Given the description of an element on the screen output the (x, y) to click on. 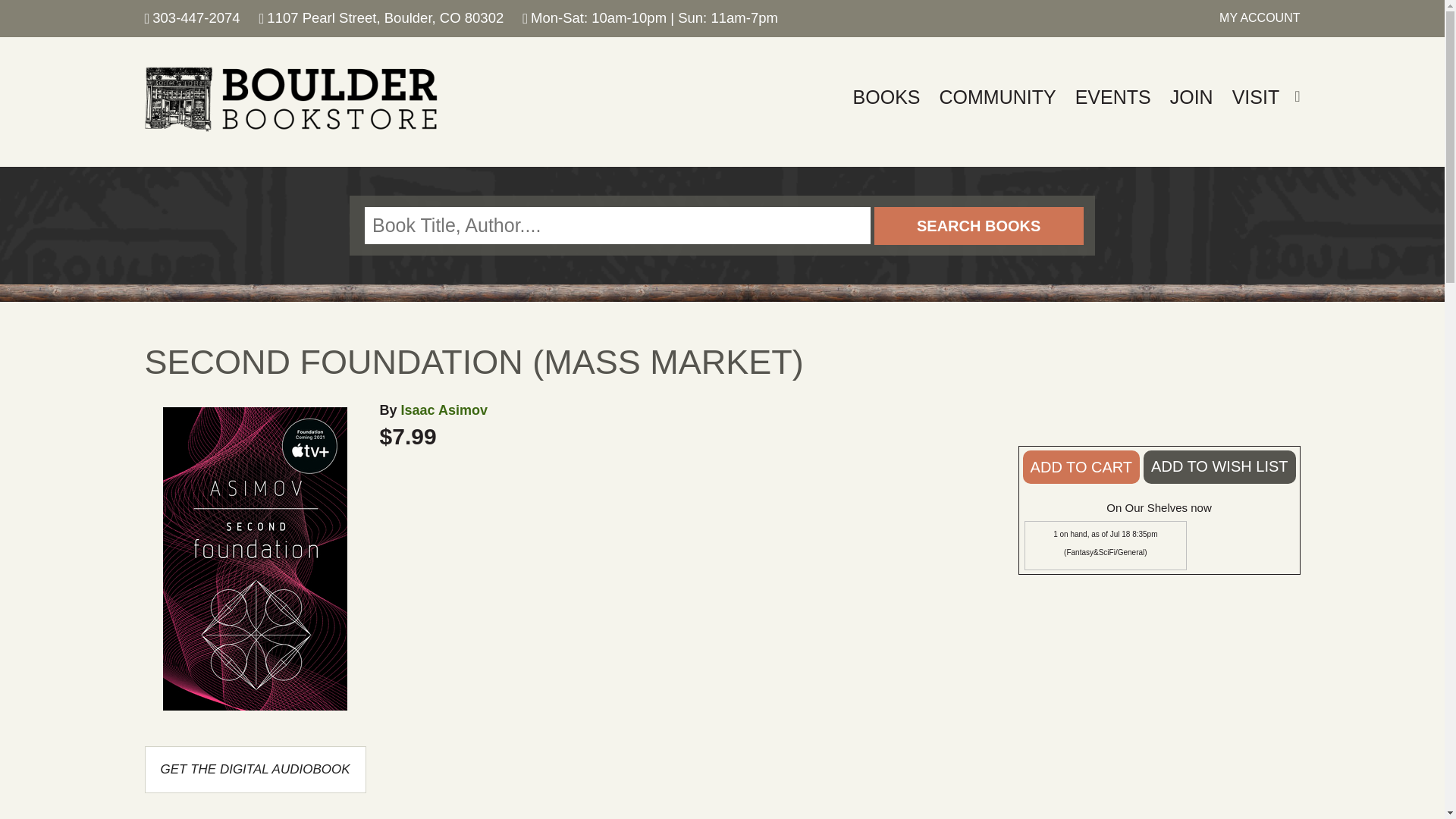
Add to Cart (1081, 467)
MY ACCOUNT (1260, 17)
Add to Cart (1081, 467)
EVENTS (1113, 96)
Isaac Asimov (444, 409)
ADD TO WISH LIST (1218, 467)
SEARCH BOOKS (979, 225)
COMMUNITY (998, 96)
Get the Digital Audiobook (254, 769)
JOIN (1191, 96)
VISIT (1255, 96)
BOOKS (886, 96)
Get the Digital Audiobook (254, 769)
